Given the description of an element on the screen output the (x, y) to click on. 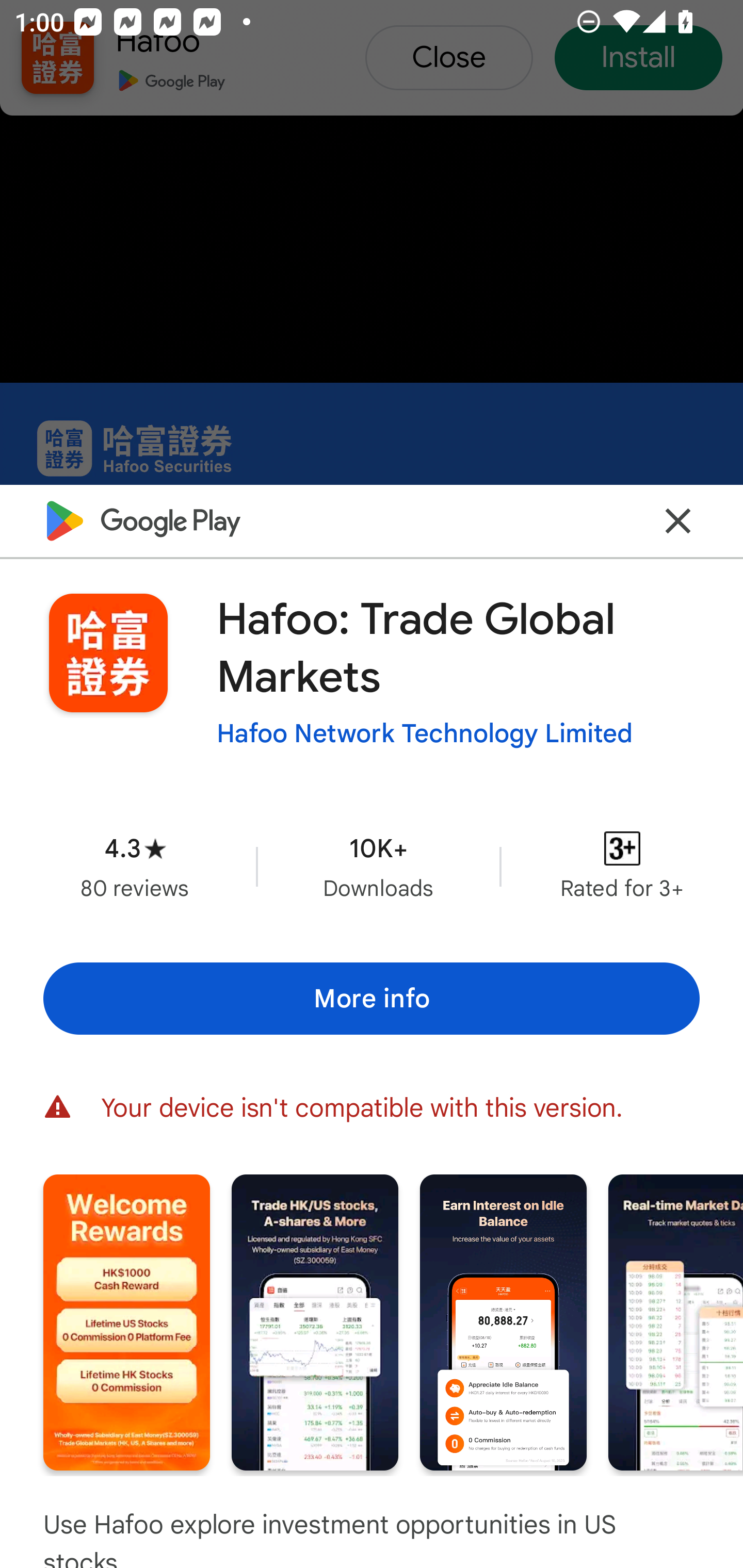
Close (677, 520)
Hafoo Network Technology Limited (424, 732)
More info (371, 998)
Screenshot "1" of "8" (126, 1322)
Screenshot "2" of "8" (314, 1322)
Screenshot "3" of "8" (502, 1322)
Screenshot "4" of "8" (675, 1322)
